Given the description of an element on the screen output the (x, y) to click on. 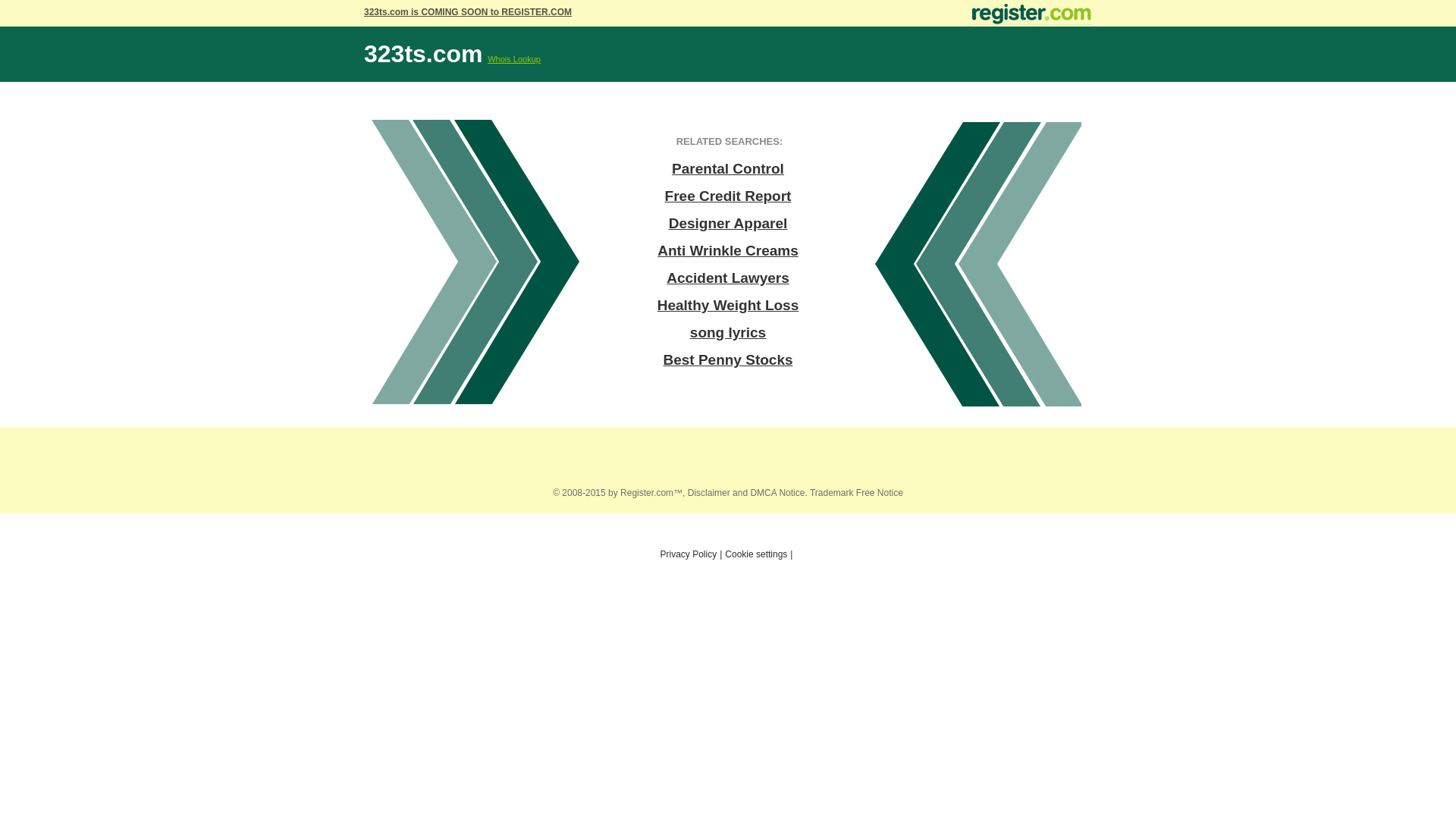
Whois Lookup Element type: text (513, 58)
323ts.com Element type: text (423, 53)
Parental Control Element type: text (727, 168)
Trademark Free Notice Element type: text (856, 492)
song lyrics Element type: text (727, 332)
Free Credit Report Element type: text (727, 196)
Healthy Weight Loss Element type: text (727, 305)
323ts.com is COMING SOON to REGISTER.COM Element type: text (467, 8)
Privacy Policy Element type: text (687, 554)
Cookie settings Element type: text (755, 554)
Best Penny Stocks Element type: text (727, 359)
Designer Apparel Element type: text (727, 223)
Accident Lawyers Element type: text (727, 277)
Anti Wrinkle Creams Element type: text (727, 250)
